Given the description of an element on the screen output the (x, y) to click on. 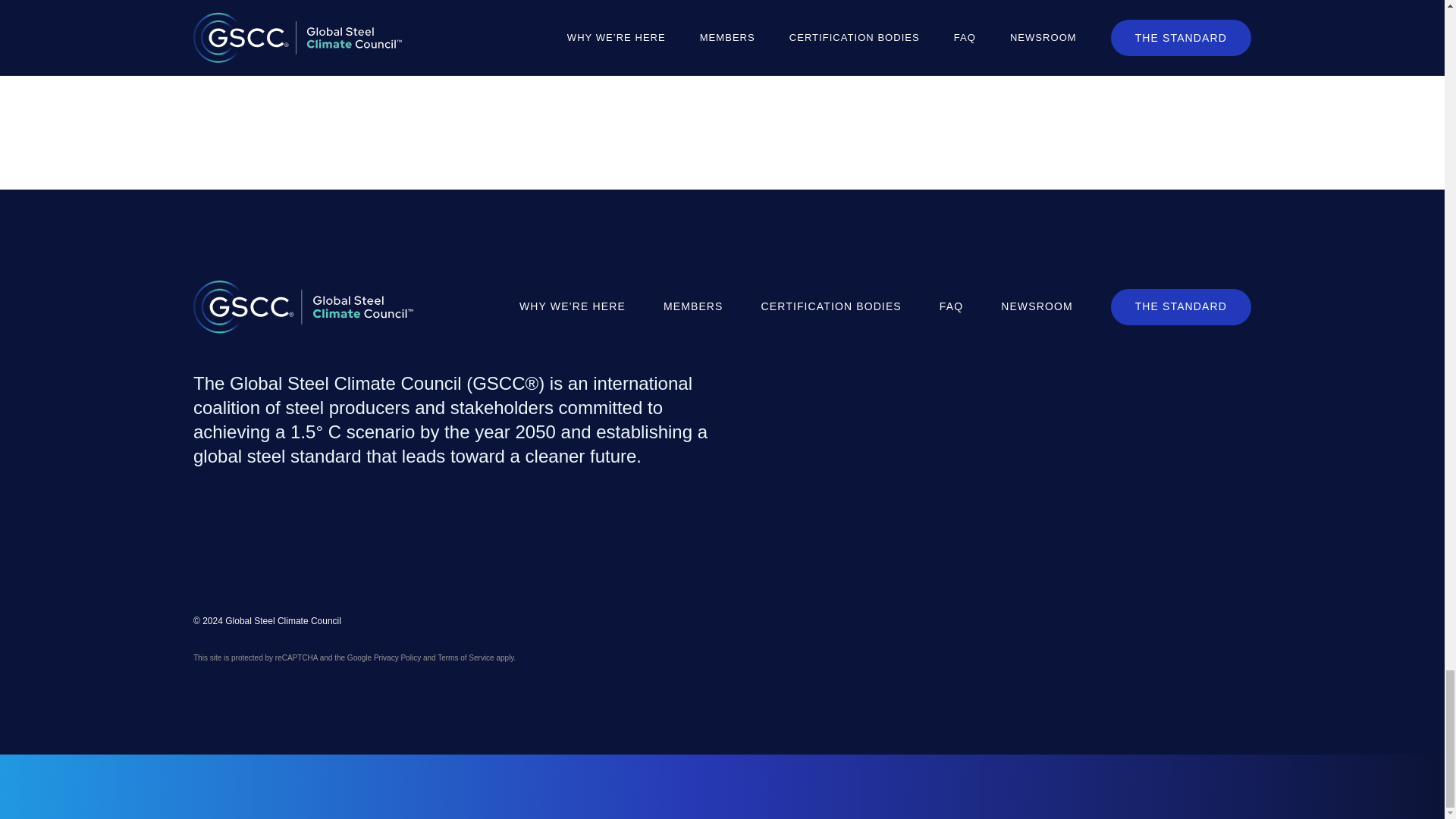
NEWSROOM (1037, 306)
CERTIFICATION BODIES (831, 306)
Privacy Policy (397, 657)
MEMBERS (693, 306)
FAQ (950, 306)
MEMBERS (693, 306)
FAQ (950, 306)
NEWSROOM (1037, 306)
Terms of Service (465, 657)
CERTIFICATION BODIES (831, 306)
WHY WE'RE HERE (572, 306)
THE STANDARD (1181, 306)
THE STANDARD (1181, 306)
